Given the description of an element on the screen output the (x, y) to click on. 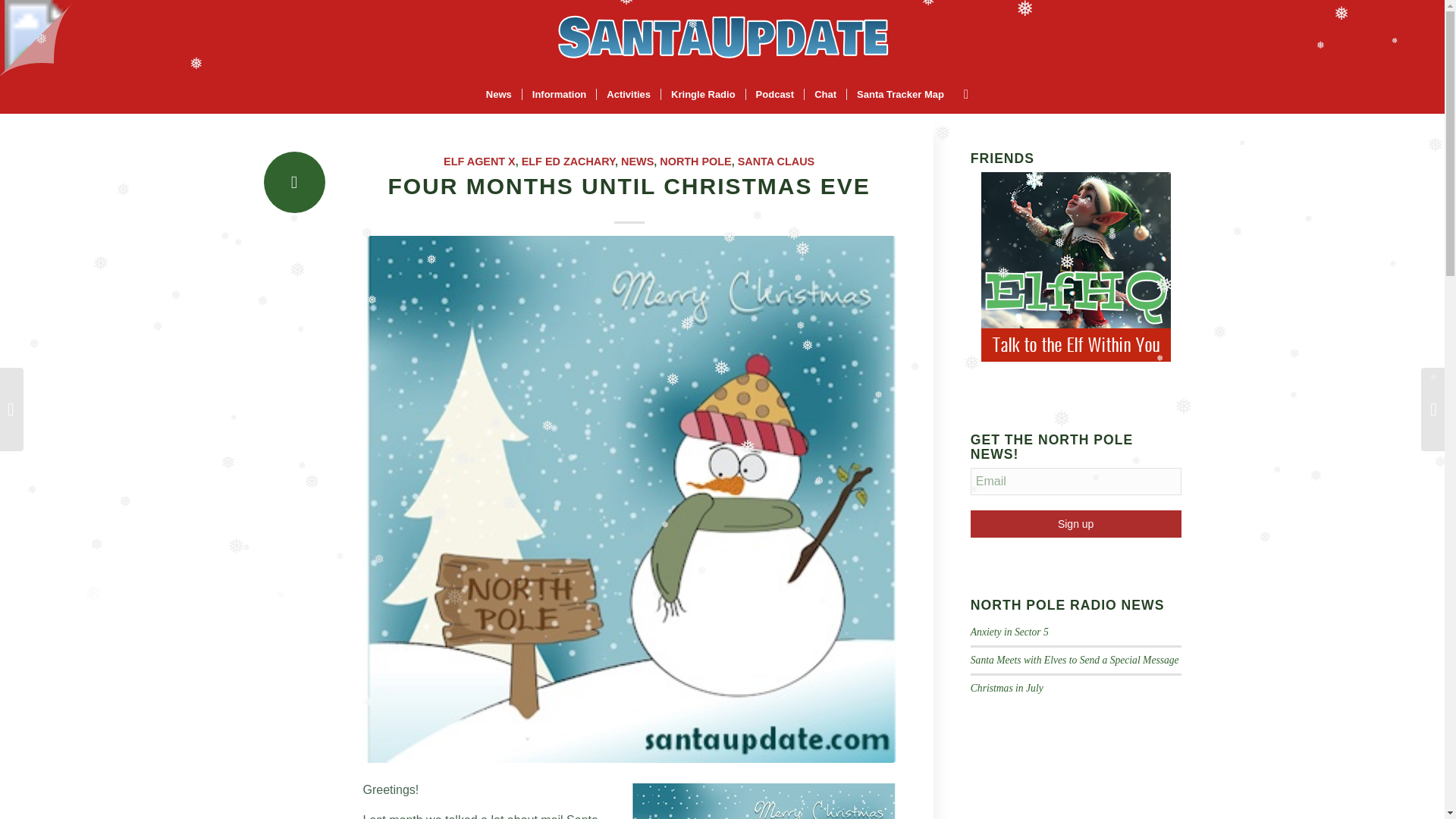
Kringle Radio (703, 94)
Activities (628, 94)
Podcast (775, 94)
Santa Tracker Map (899, 94)
News (498, 94)
logo1 (721, 38)
Information (558, 94)
Chat (824, 94)
ELF AGENT X (479, 161)
